Given the description of an element on the screen output the (x, y) to click on. 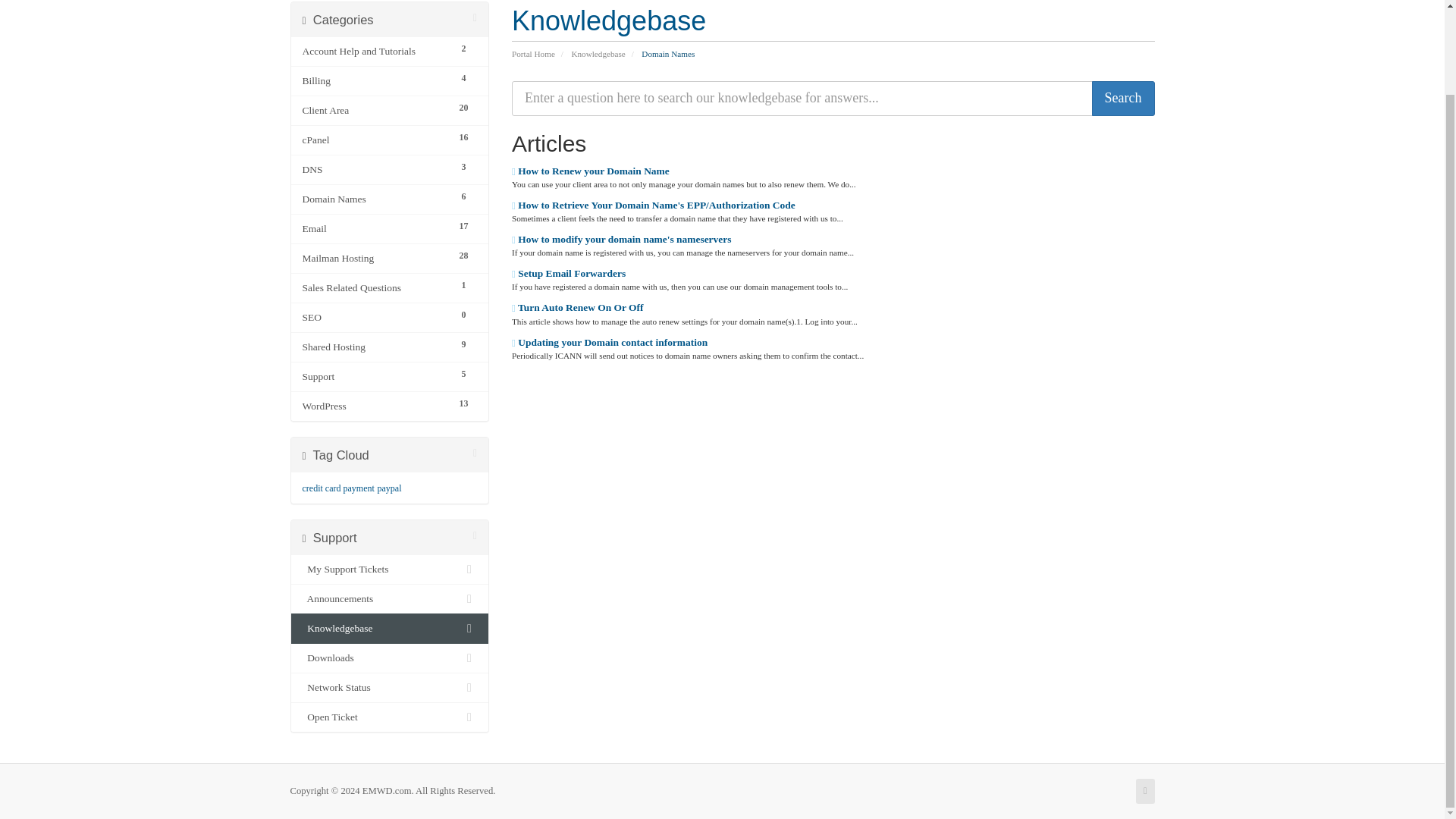
Email (375, 229)
Support (375, 376)
Domain Names (375, 199)
Mailman Hosting (375, 258)
Search (1123, 98)
DNS (375, 169)
SEO (375, 317)
Account Help and Tutorials (375, 51)
Sales Related Questions (375, 288)
Client Area (375, 110)
Billing (375, 81)
cPanel (375, 140)
WordPress (375, 406)
Shared Hosting (375, 347)
